Given the description of an element on the screen output the (x, y) to click on. 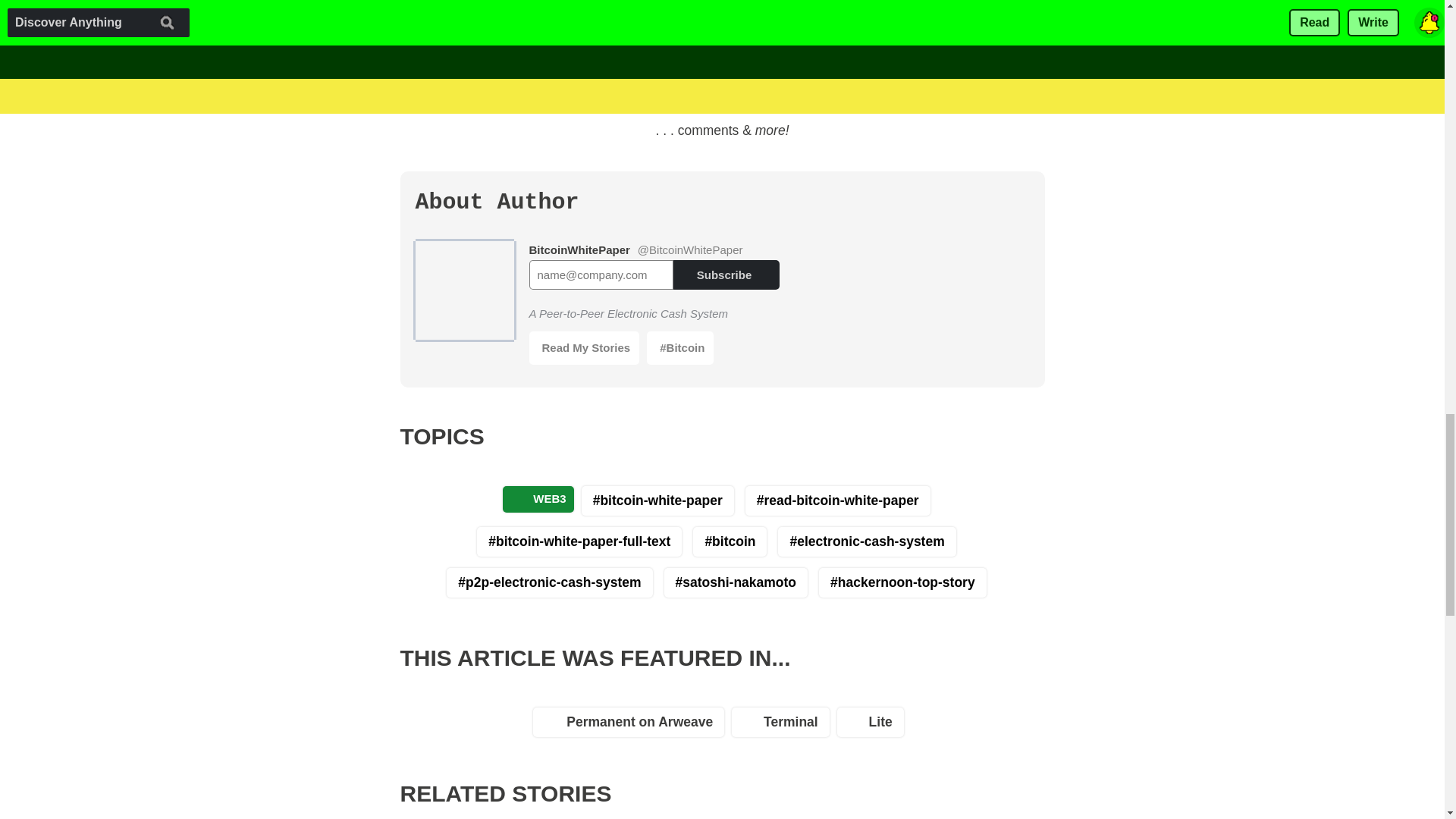
WEB3 (537, 499)
Subscribe (725, 274)
Read My Stories (584, 347)
